Given the description of an element on the screen output the (x, y) to click on. 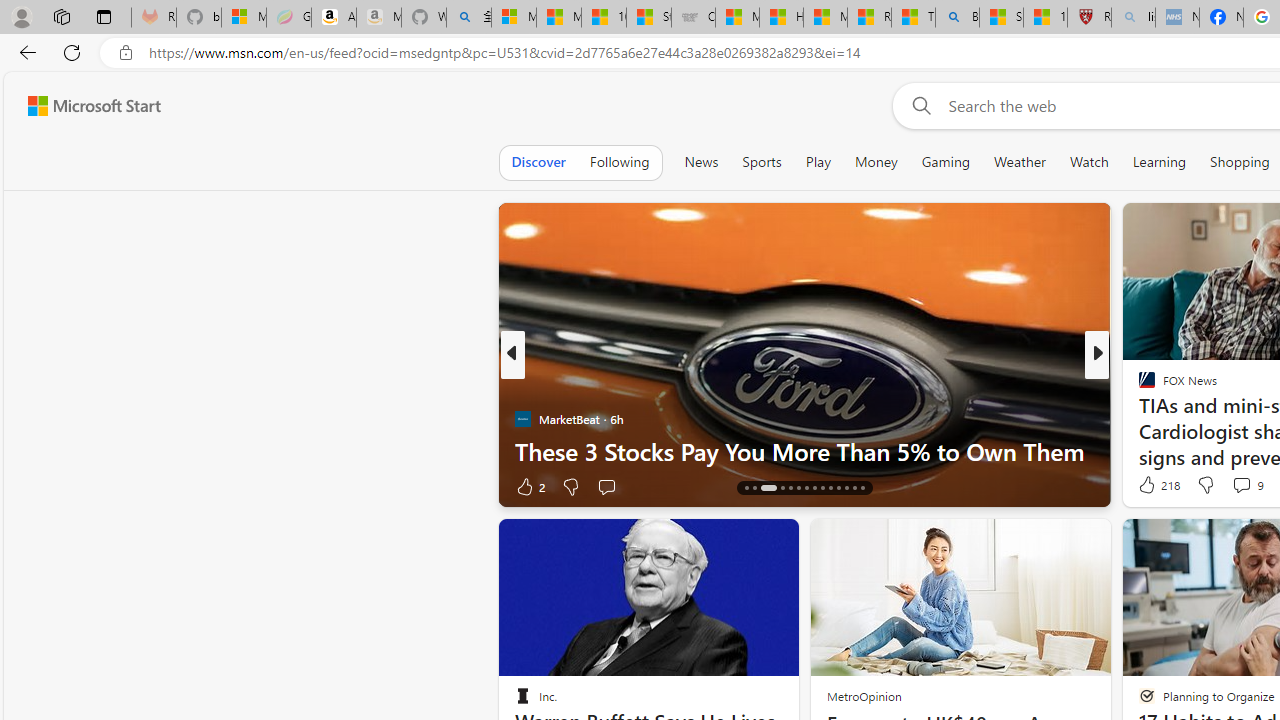
67 Like (1149, 486)
How I Got Rid of Microsoft Edge's Unnecessary Features (781, 17)
Medical Xpress (1138, 386)
AutomationID: tab-24 (829, 487)
Gaming (945, 161)
AutomationID: tab-17 (768, 487)
419 Like (1151, 486)
Learning (1159, 161)
